Given the description of an element on the screen output the (x, y) to click on. 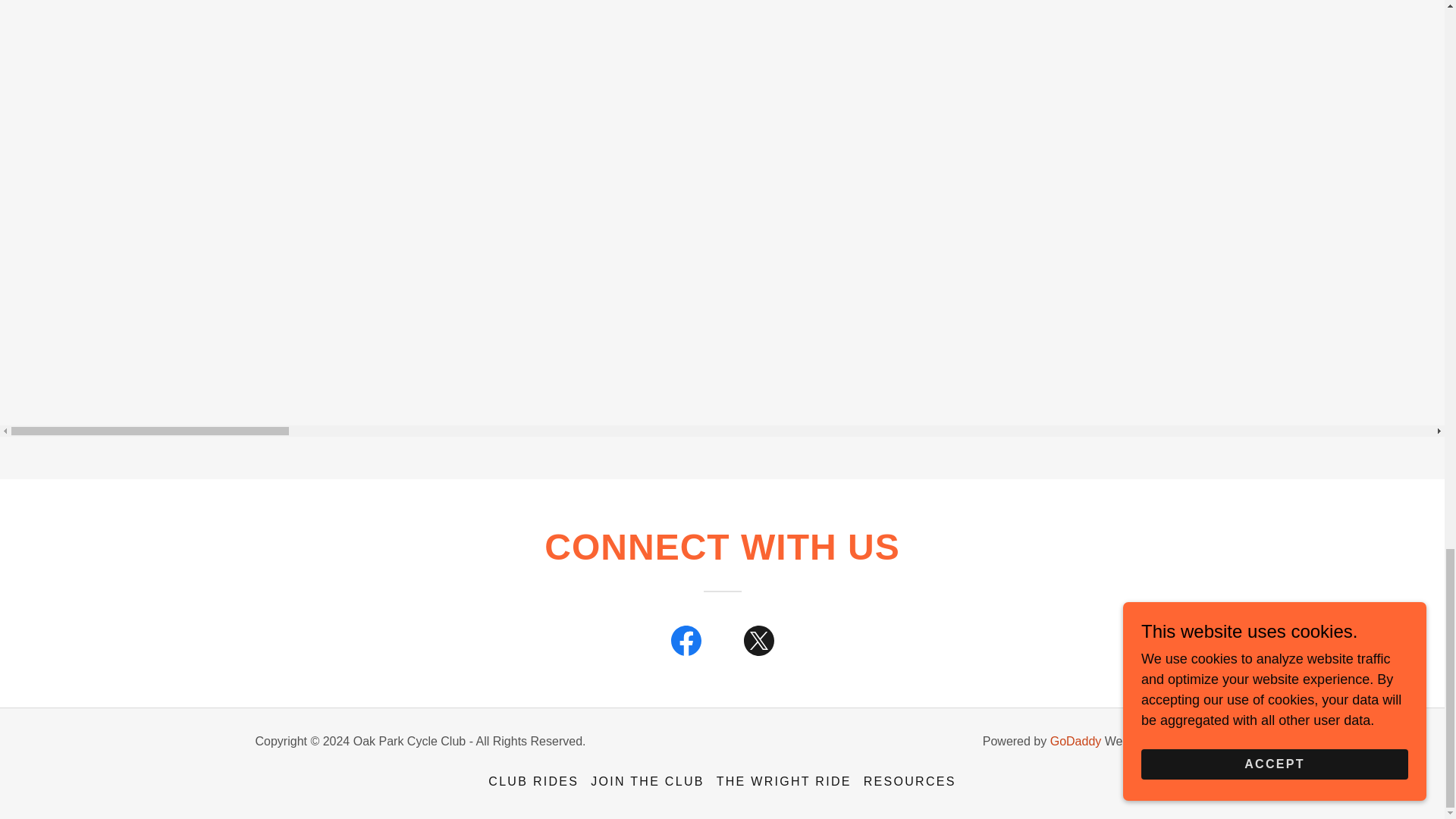
GoDaddy (1075, 740)
JOIN THE CLUB (647, 781)
CLUB RIDES (533, 781)
THE WRIGHT RIDE (783, 781)
RESOURCES (909, 781)
